Given the description of an element on the screen output the (x, y) to click on. 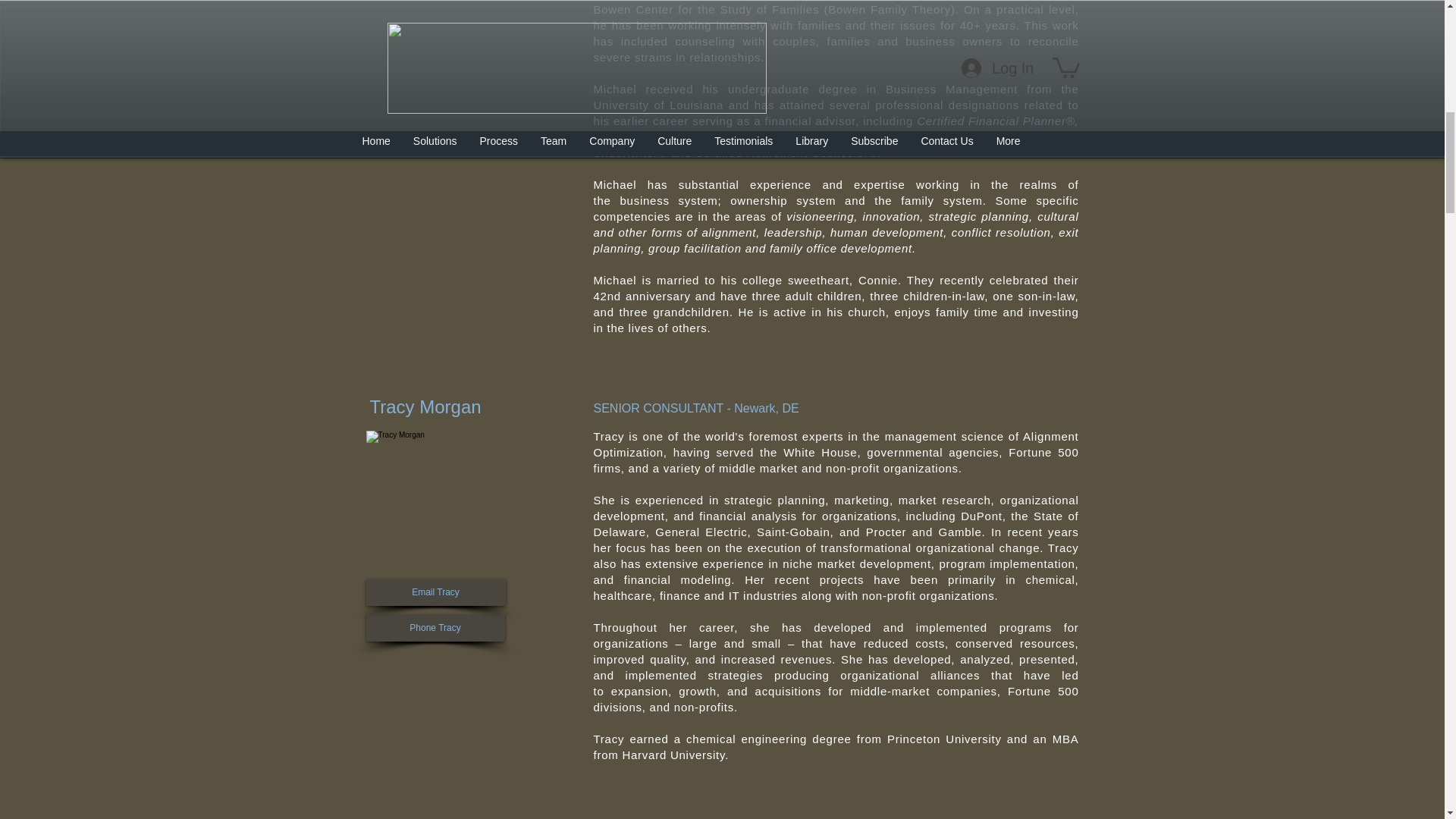
Phone Tracy (434, 628)
Email Tracy (435, 592)
